Given the description of an element on the screen output the (x, y) to click on. 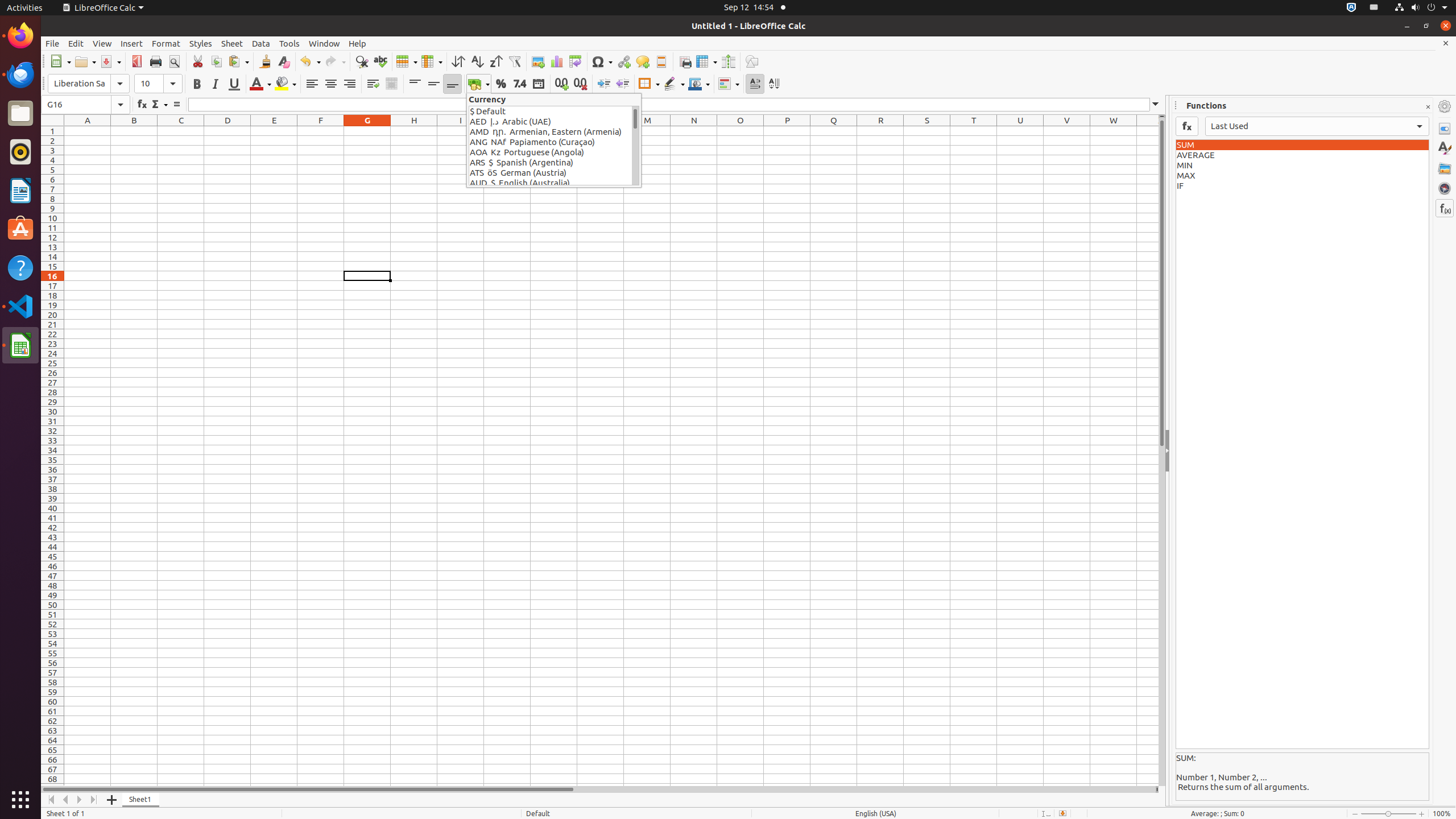
Align Left Element type: push-button (311, 83)
Symbol Element type: push-button (601, 61)
Sheet Element type: menu (231, 43)
Column Element type: push-button (431, 61)
Border Style Element type: push-button (673, 83)
